Given the description of an element on the screen output the (x, y) to click on. 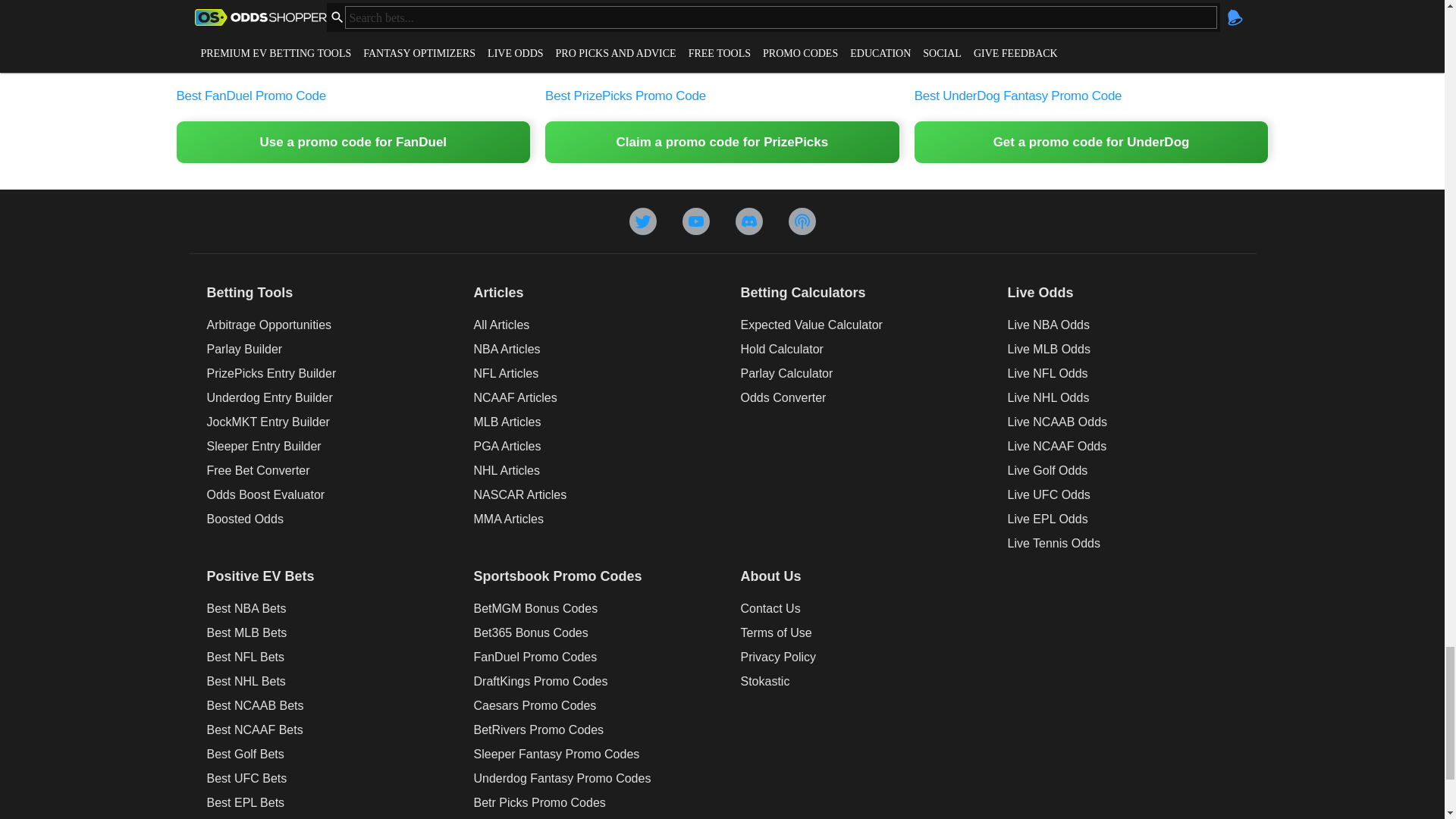
prizepicks-featured-link-share-image-1200x675-1 (721, 40)
